Given the description of an element on the screen output the (x, y) to click on. 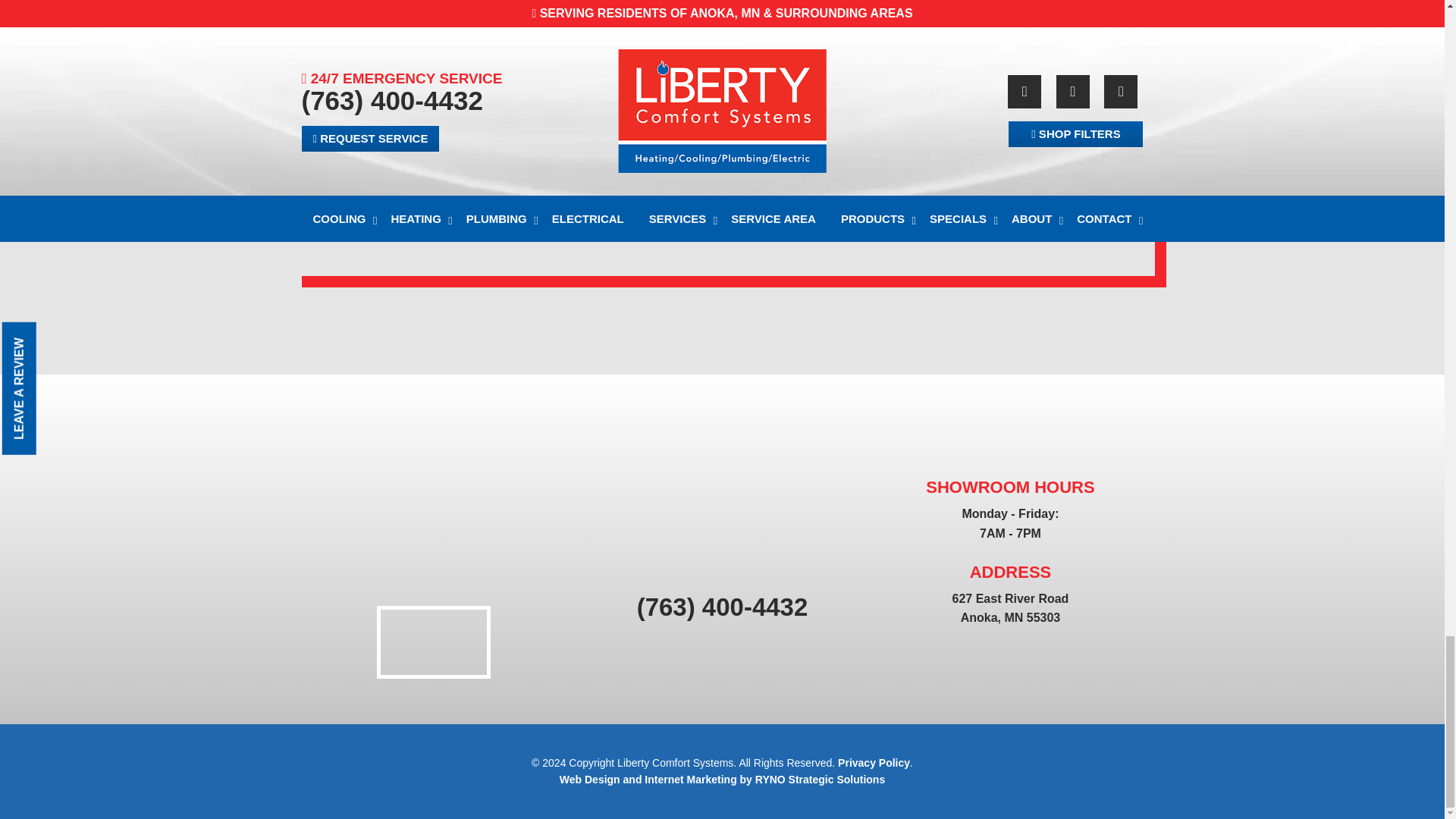
Submit (486, 152)
